Given the description of an element on the screen output the (x, y) to click on. 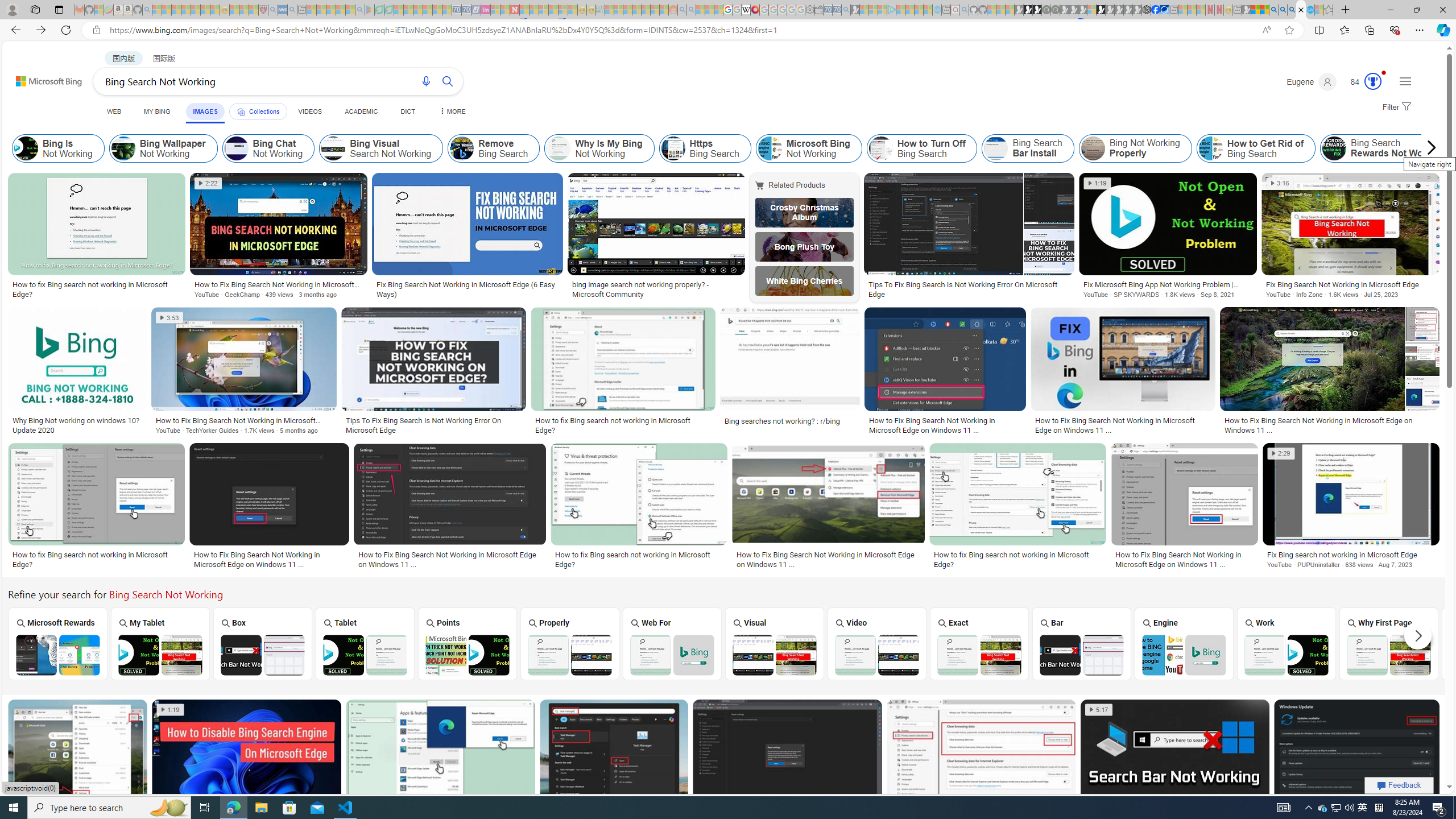
Engine (1184, 643)
AirNow.gov (1163, 9)
Microsoft Start Gaming - Sleeping (854, 9)
Bing Search Bar Not Working (1080, 655)
Microsoft Rewards Bing Search Not Working Microsoft Rewards (57, 643)
Forward (40, 29)
